Given the description of an element on the screen output the (x, y) to click on. 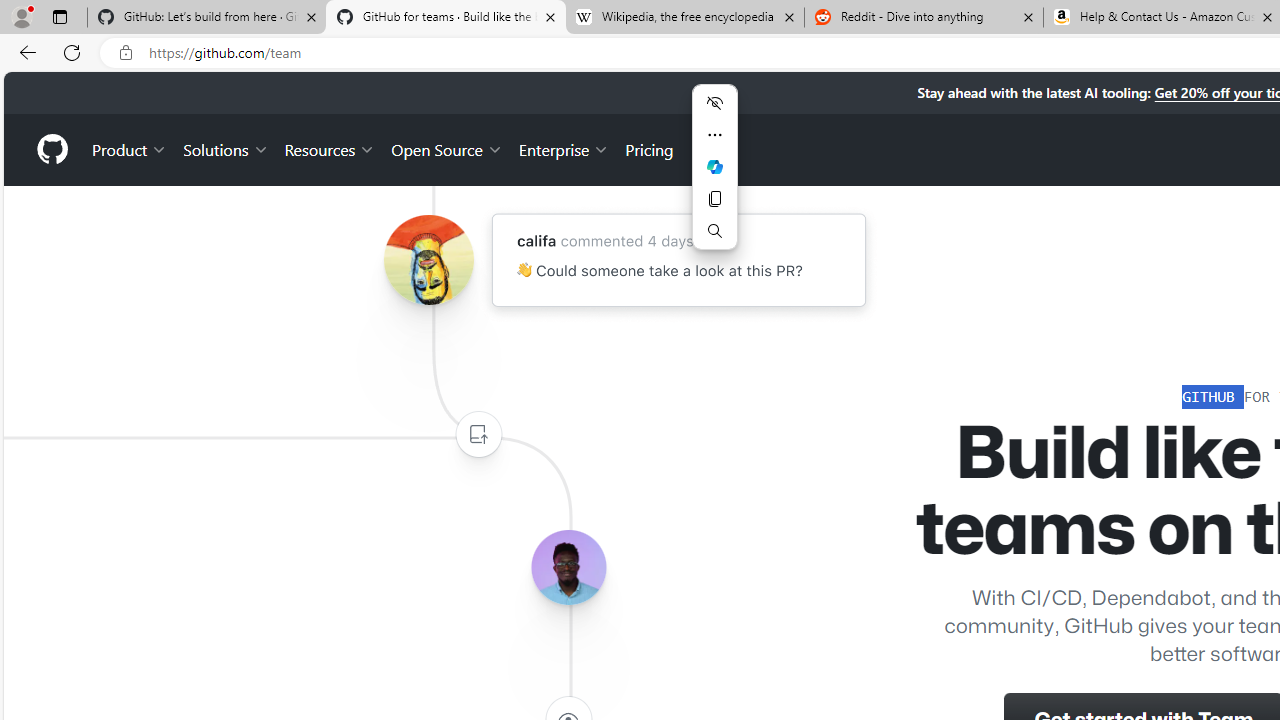
Copy (714, 198)
Solutions (225, 148)
Product (130, 148)
Product (130, 148)
Pricing (649, 148)
Open Source (446, 148)
Hide menu (714, 102)
Solutions (225, 148)
Open Source (446, 148)
Avatar of the user lerebear (568, 567)
Reddit - Dive into anything (924, 17)
More actions (714, 134)
